Given the description of an element on the screen output the (x, y) to click on. 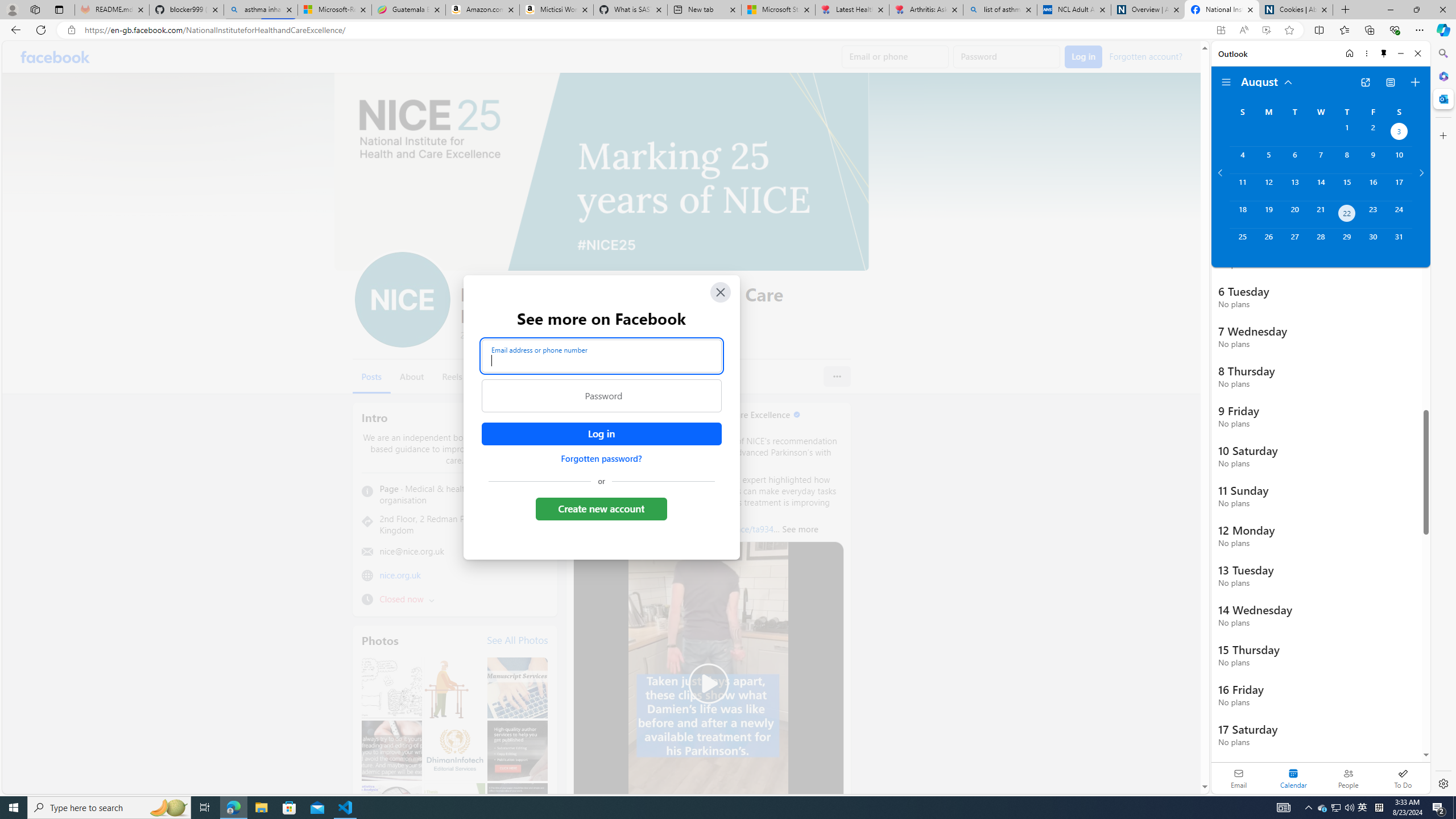
Sunday, August 18, 2024.  (1242, 214)
Saturday, August 24, 2024.  (1399, 214)
Monday, August 5, 2024.  (1268, 159)
Saturday, August 31, 2024.  (1399, 241)
Saturday, August 17, 2024.  (1399, 186)
asthma inhaler - Search (260, 9)
To Do (1402, 777)
